Given the description of an element on the screen output the (x, y) to click on. 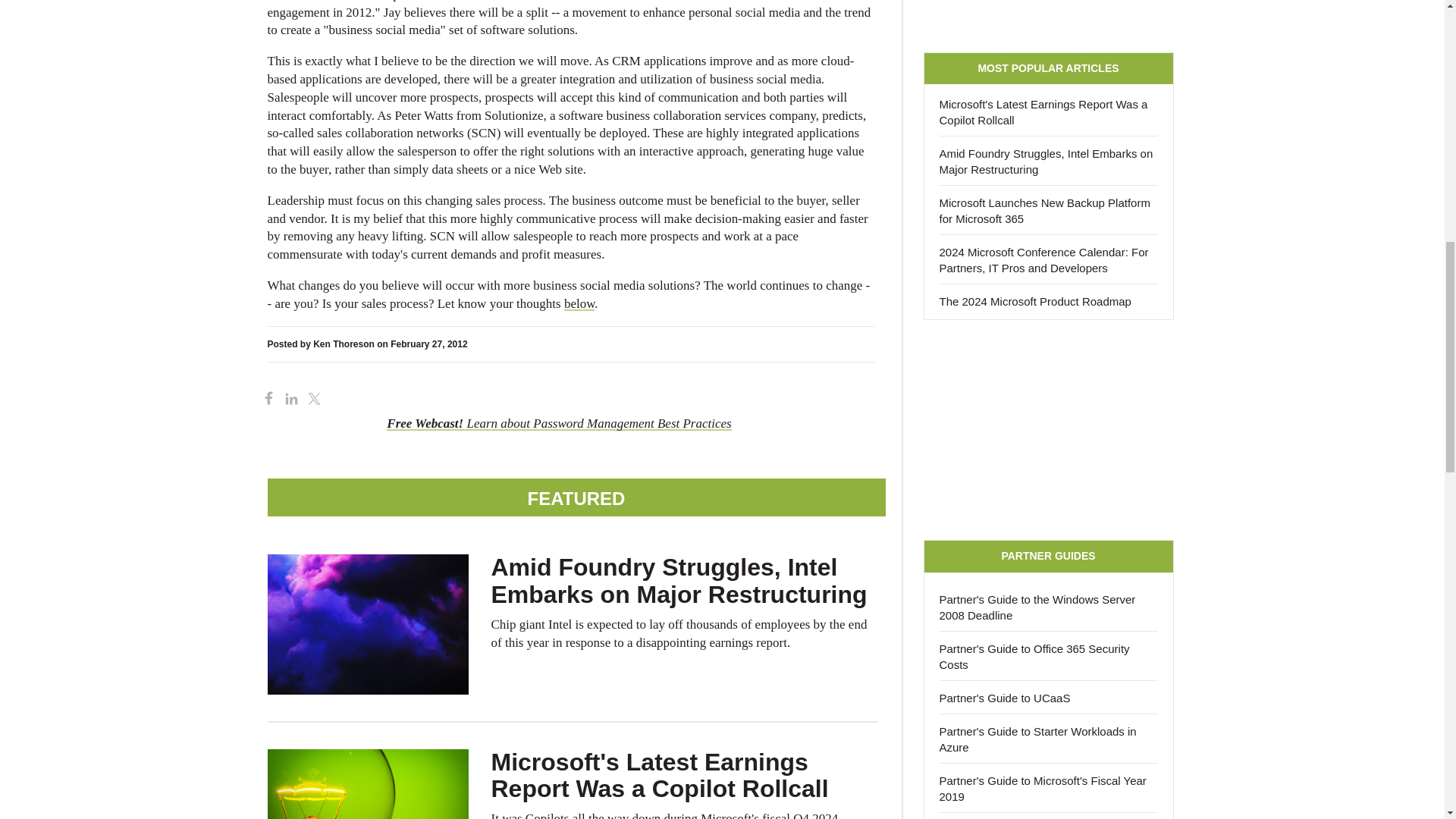
3rd party ad content (1047, 429)
3rd party ad content (1047, 18)
below (579, 303)
